Given the description of an element on the screen output the (x, y) to click on. 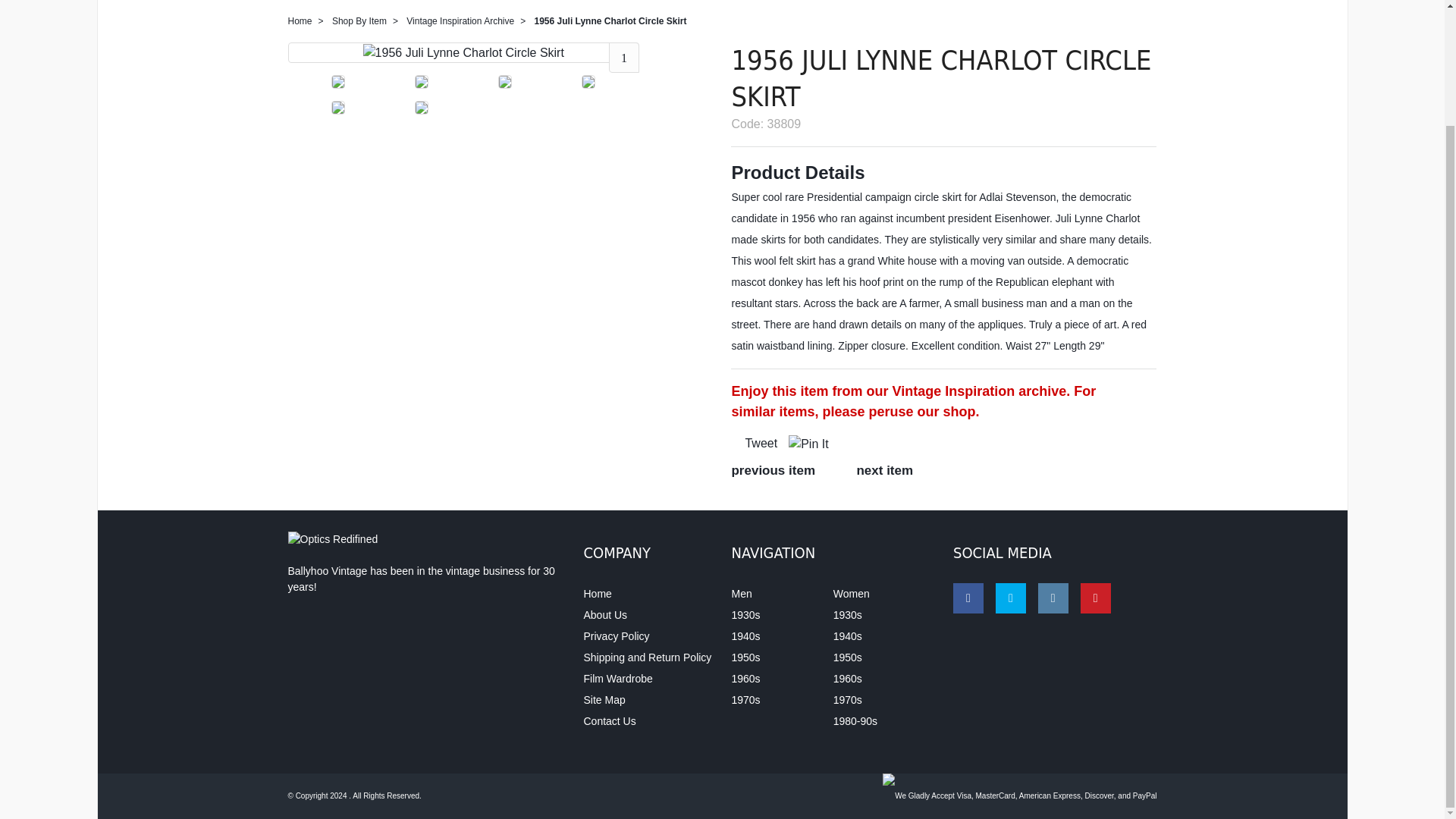
Pin It (808, 443)
Vintage Inspiration Archive (459, 20)
1956 Juli Lynne Charlot Circle Skirt (463, 53)
Home (300, 20)
Shop By Item (359, 20)
